Given the description of an element on the screen output the (x, y) to click on. 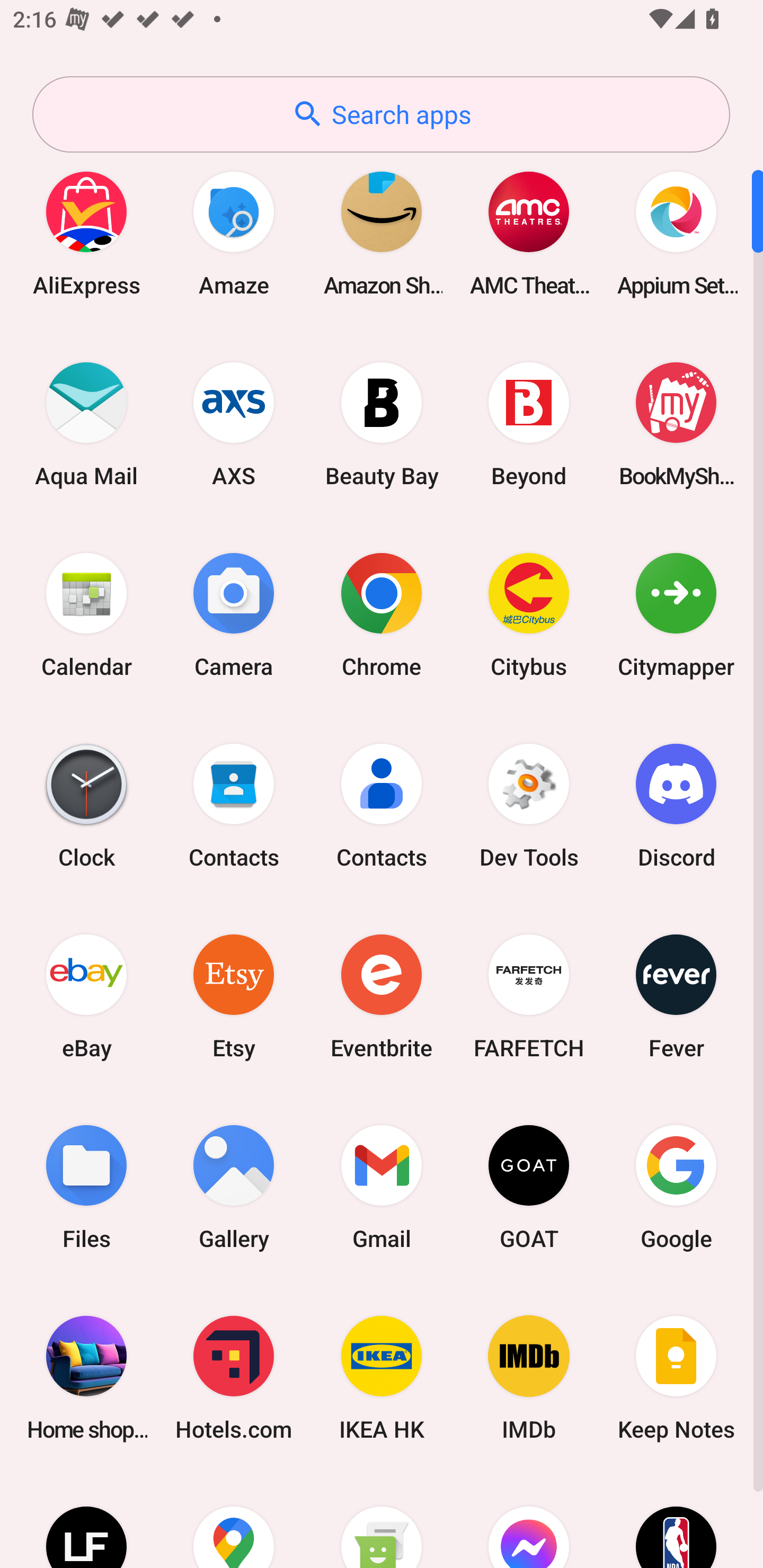
Citymapper (676, 614)
